Given the description of an element on the screen output the (x, y) to click on. 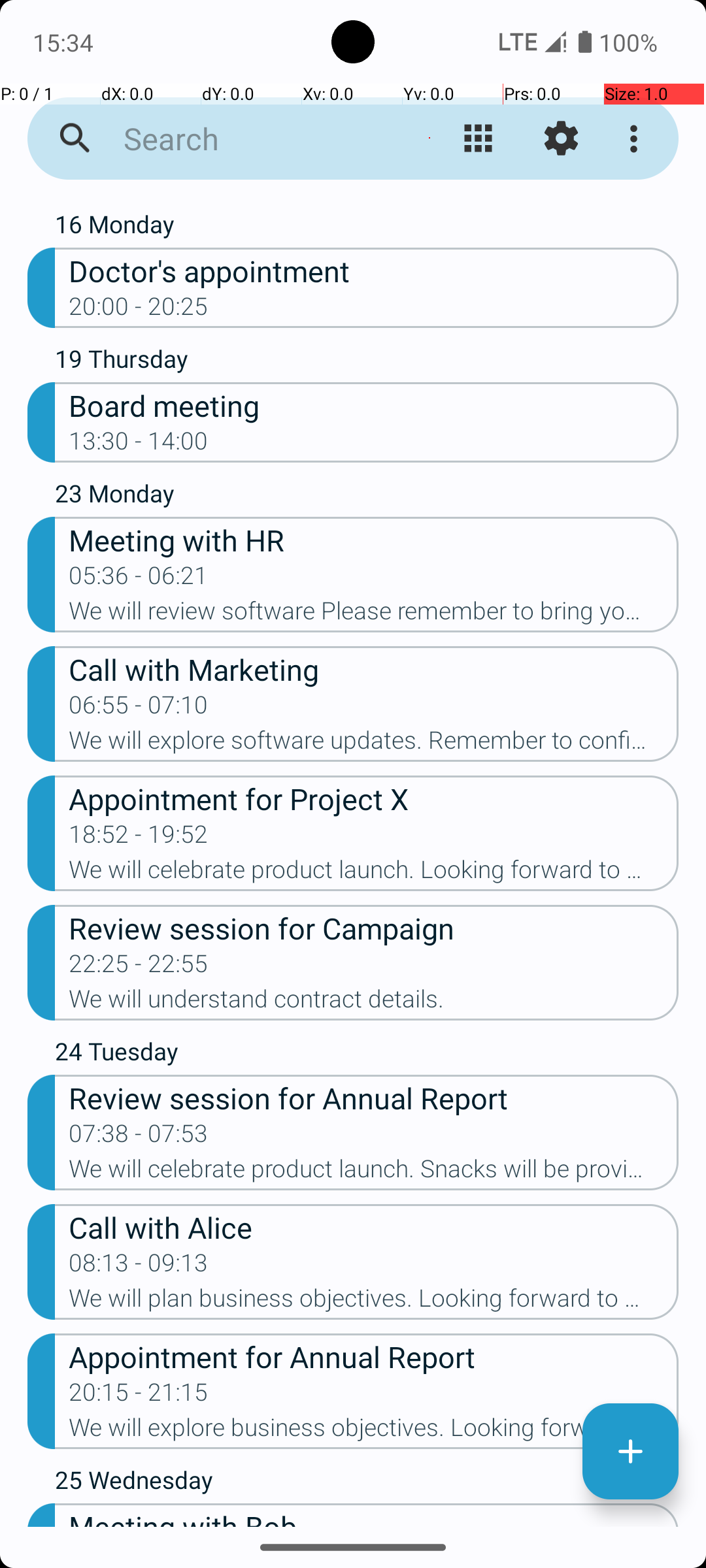
24 Tuesday Element type: android.widget.TextView (366, 1054)
25 Wednesday Element type: android.widget.TextView (366, 1482)
Doctor's appointment Element type: android.widget.TextView (373, 269)
20:00 - 20:25 Element type: android.widget.TextView (137, 309)
Board meeting Element type: android.widget.TextView (373, 404)
13:30 - 14:00 Element type: android.widget.TextView (137, 444)
05:36 - 06:21 Element type: android.widget.TextView (137, 579)
We will review software Please remember to bring your laptop and charger. updates. Snacks will be provided. Element type: android.widget.TextView (373, 614)
06:55 - 07:10 Element type: android.widget.TextView (137, 708)
We will explore software updates. Remember to confirm attendance. Element type: android.widget.TextView (373, 743)
18:52 - 19:52 Element type: android.widget.TextView (137, 837)
We will celebrate product launch. Looking forward to productive discussions. Element type: android.widget.TextView (373, 873)
22:25 - 22:55 Element type: android.widget.TextView (137, 967)
We will understand contract details. Element type: android.widget.TextView (373, 1002)
07:38 - 07:53 Element type: android.widget.TextView (137, 1137)
We will celebrate product launch. Snacks will be provided. Element type: android.widget.TextView (373, 1172)
08:13 - 09:13 Element type: android.widget.TextView (137, 1266)
We will plan business objectives. Looking forward to productive discussions. Element type: android.widget.TextView (373, 1301)
20:15 - 21:15 Element type: android.widget.TextView (137, 1395)
We will explore business objectives. Looking forward to productive discussions. Element type: android.widget.TextView (373, 1431)
